Given the description of an element on the screen output the (x, y) to click on. 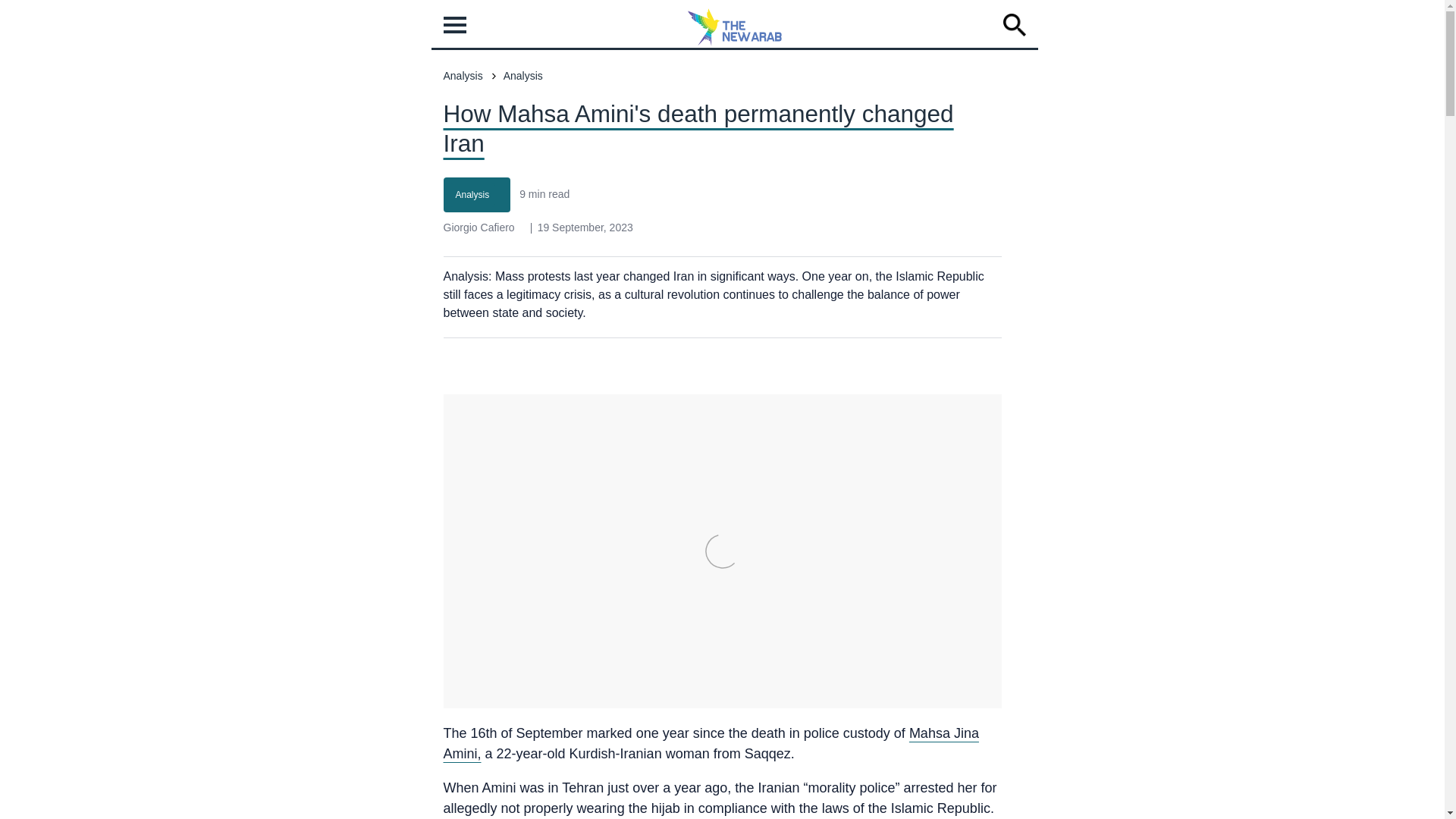
AddThis Website Tools (563, 390)
Analysis (523, 75)
Giorgio Cafiero (477, 227)
Giorgio Cafiero (477, 227)
Analysis (471, 194)
Home (735, 42)
Analysis (471, 194)
Analysis (461, 75)
Mahsa Jina Amini, (710, 743)
